Given the description of an element on the screen output the (x, y) to click on. 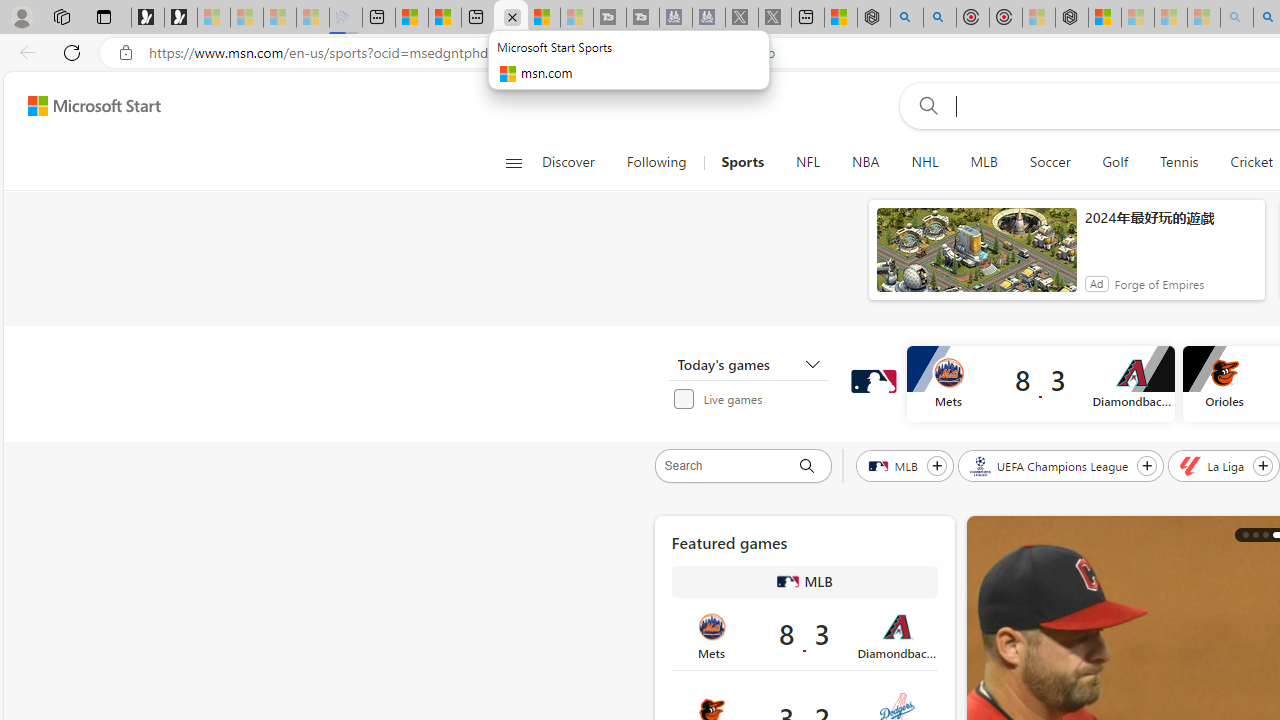
NFL (807, 162)
NBA (865, 162)
Tennis (1179, 162)
Nordace - Nordace Siena Is Not An Ordinary Backpack (1071, 17)
Follow La Liga (1263, 465)
poe - Search (906, 17)
MLB (894, 465)
